Given the description of an element on the screen output the (x, y) to click on. 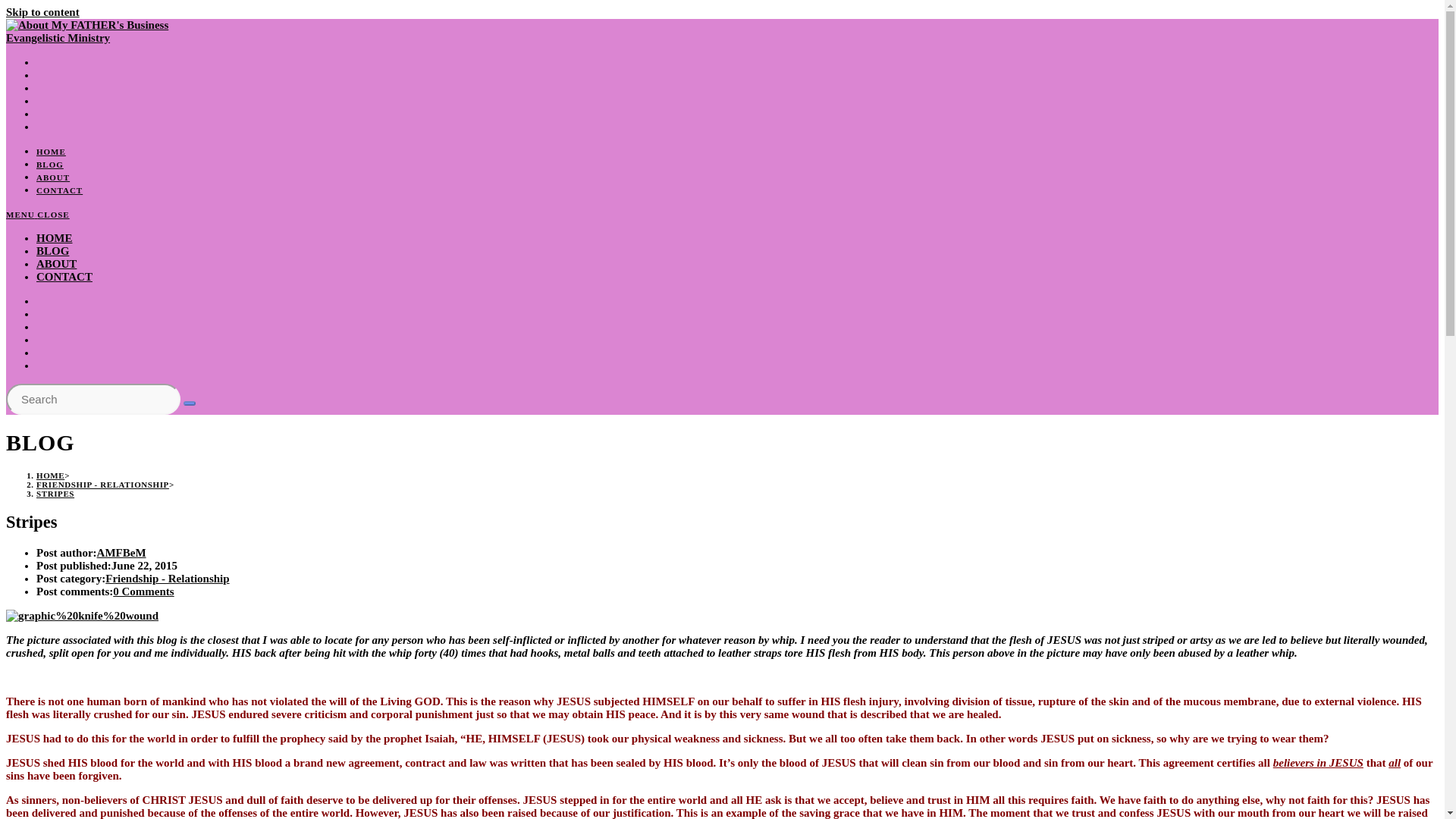
HOME (50, 474)
HOME (54, 237)
Skip to content (42, 11)
HOME (50, 151)
BLOG (50, 163)
MENU CLOSE (37, 214)
Friendship - Relationship (166, 578)
BLOG (52, 250)
ABOUT (52, 176)
Posts by AMFBeM (122, 552)
CONTACT (59, 189)
AMFBeM (122, 552)
CONTACT (64, 276)
STRIPES (55, 492)
ABOUT (56, 263)
